Given the description of an element on the screen output the (x, y) to click on. 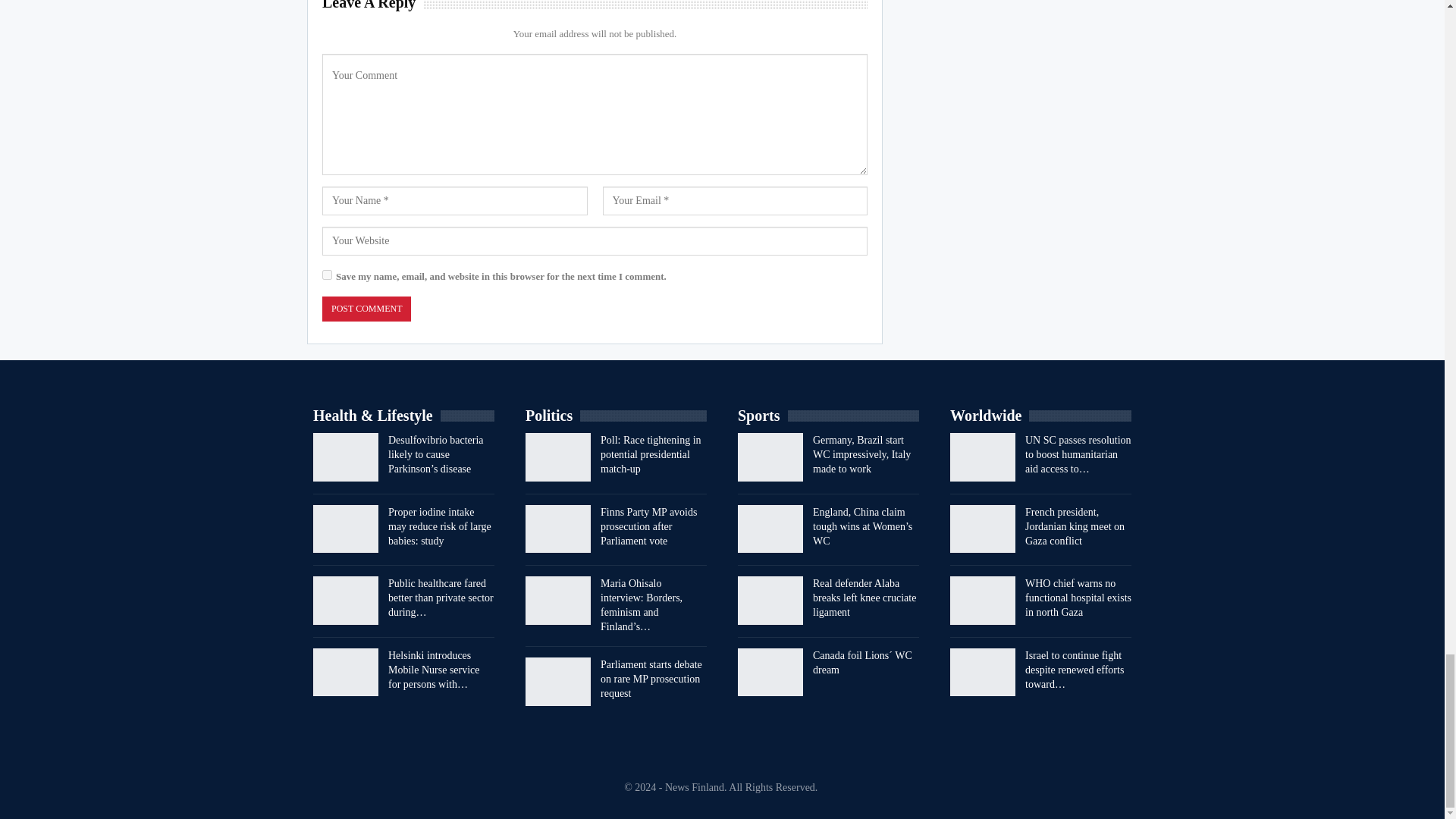
yes (326, 275)
Post Comment (365, 308)
